Given the description of an element on the screen output the (x, y) to click on. 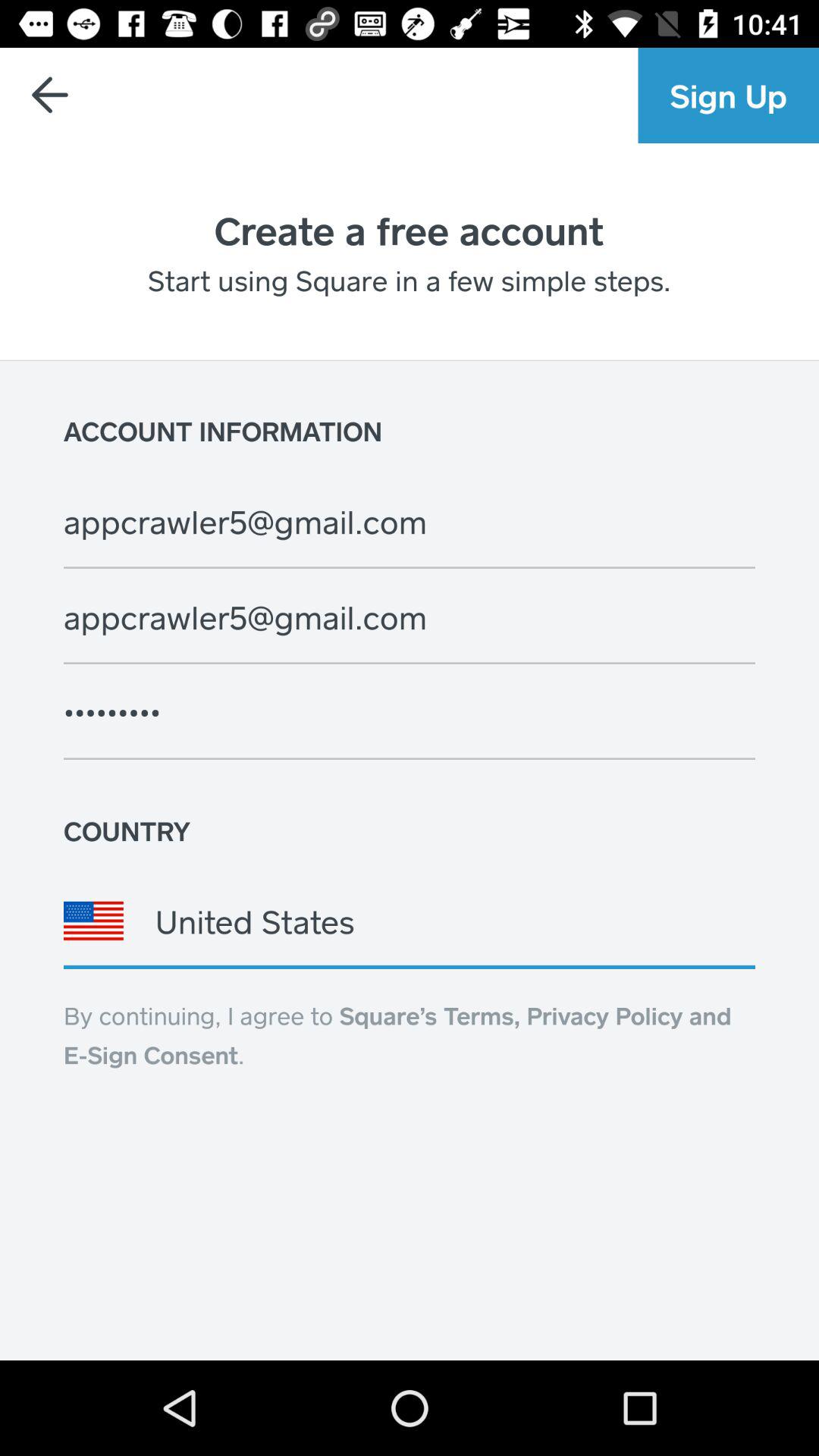
jump to by continuing i item (397, 1035)
